Given the description of an element on the screen output the (x, y) to click on. 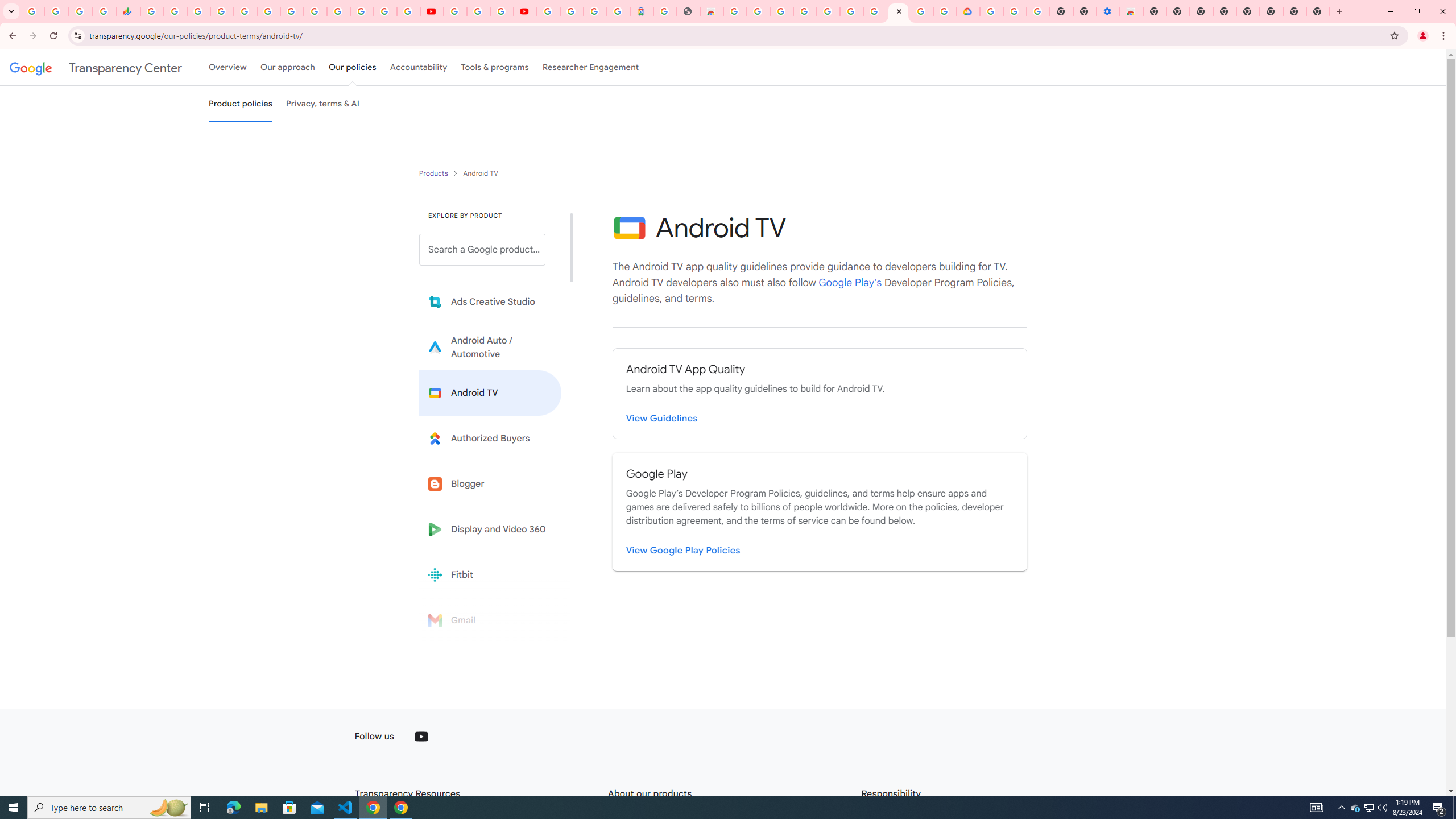
Atour Hotel - Google hotels (641, 11)
Learn more about Authorized Buyers (490, 438)
Display and Video 360 (490, 529)
Google Account Help (1015, 11)
Sign in - Google Accounts (547, 11)
Sign in - Google Accounts (992, 11)
Ad Settings (804, 11)
Google Workspace Admin Community (32, 11)
Our approach (287, 67)
Search a Google product from below list. (481, 249)
